Given the description of an element on the screen output the (x, y) to click on. 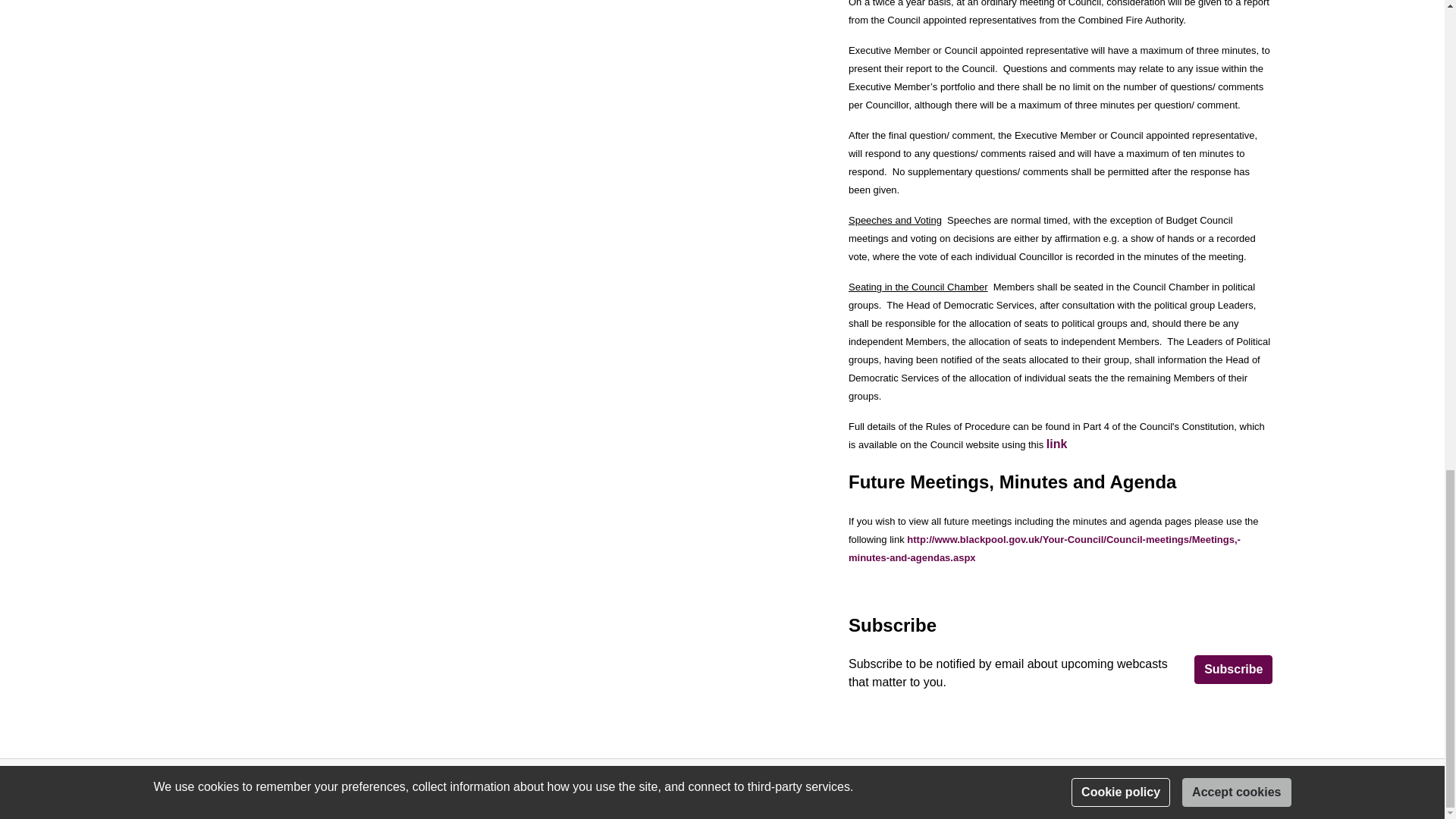
link (1056, 443)
Accessibility statement (422, 788)
Go to page: Accessibility statement (422, 788)
Go to page: Privacy policy (193, 788)
Privacy policy (193, 788)
Go to the Public-i website (1251, 788)
Subscribe (1232, 669)
Go to page: Cookies (294, 788)
Cookies (294, 788)
